Given the description of an element on the screen output the (x, y) to click on. 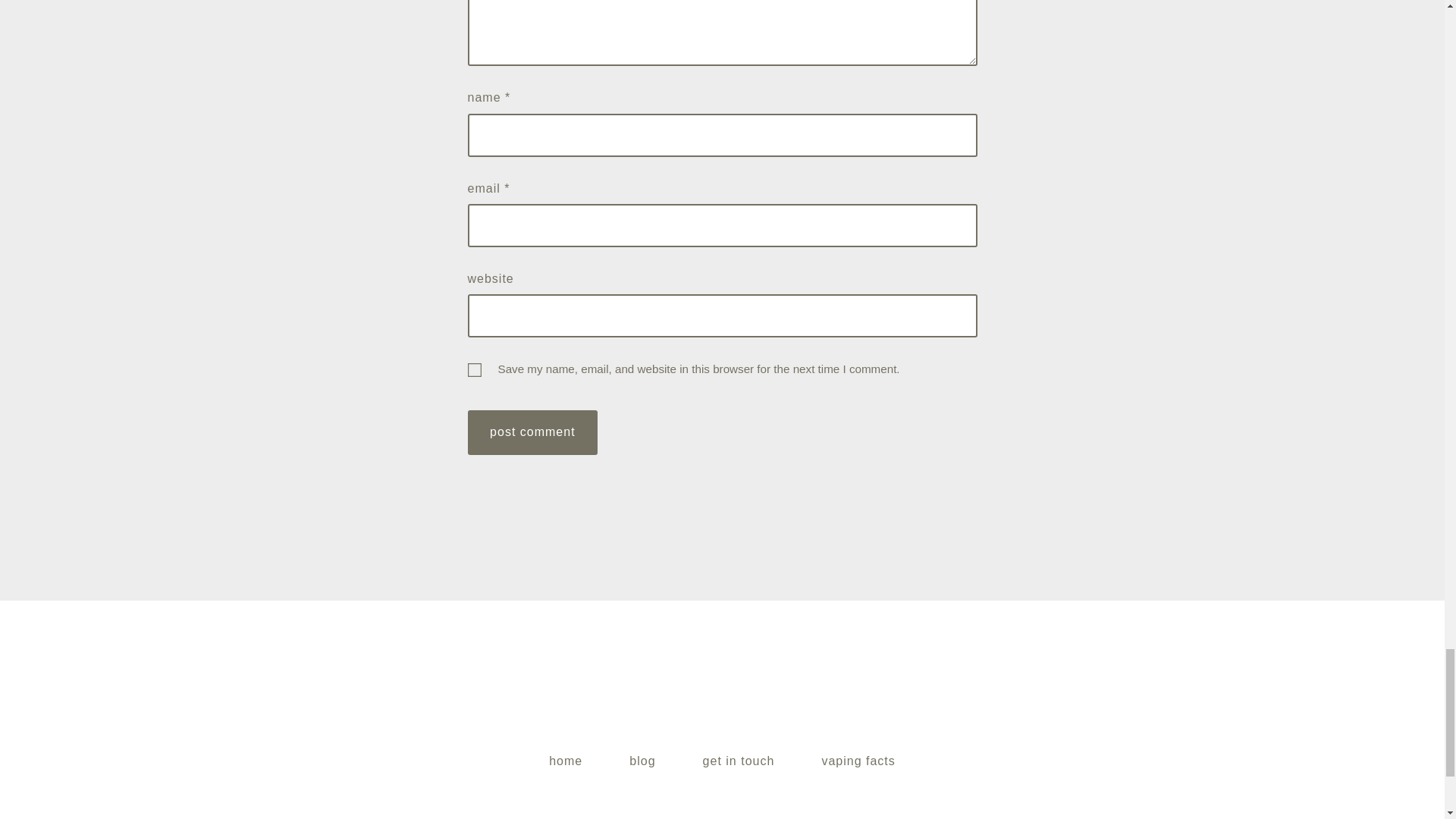
vaping facts (858, 761)
home (565, 761)
blog (643, 761)
Post Comment (531, 432)
get in touch (738, 761)
Post Comment (531, 432)
